Given the description of an element on the screen output the (x, y) to click on. 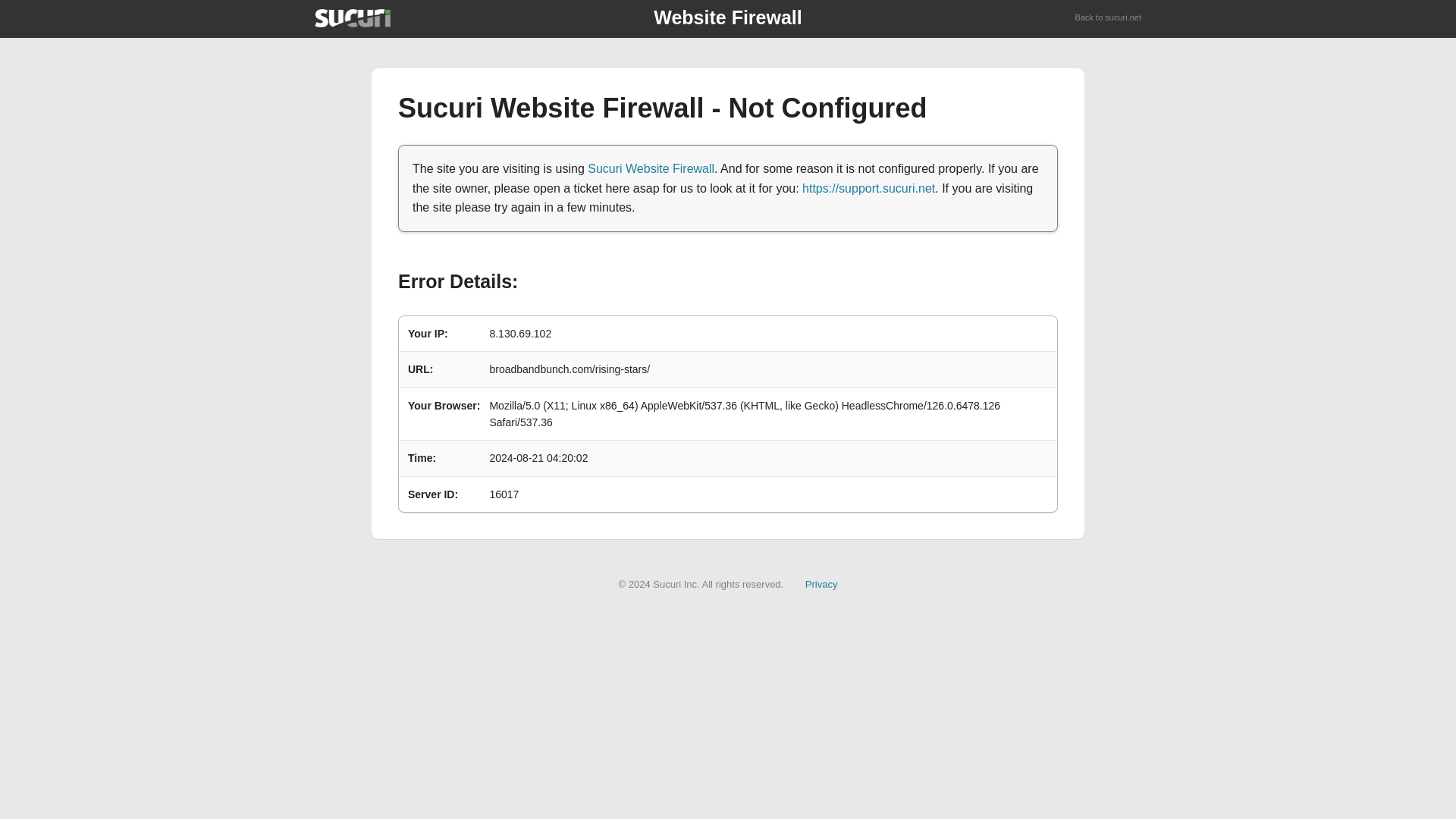
Privacy (821, 583)
Sucuri Website Firewall (651, 168)
Back to sucuri.net (1108, 18)
